Given the description of an element on the screen output the (x, y) to click on. 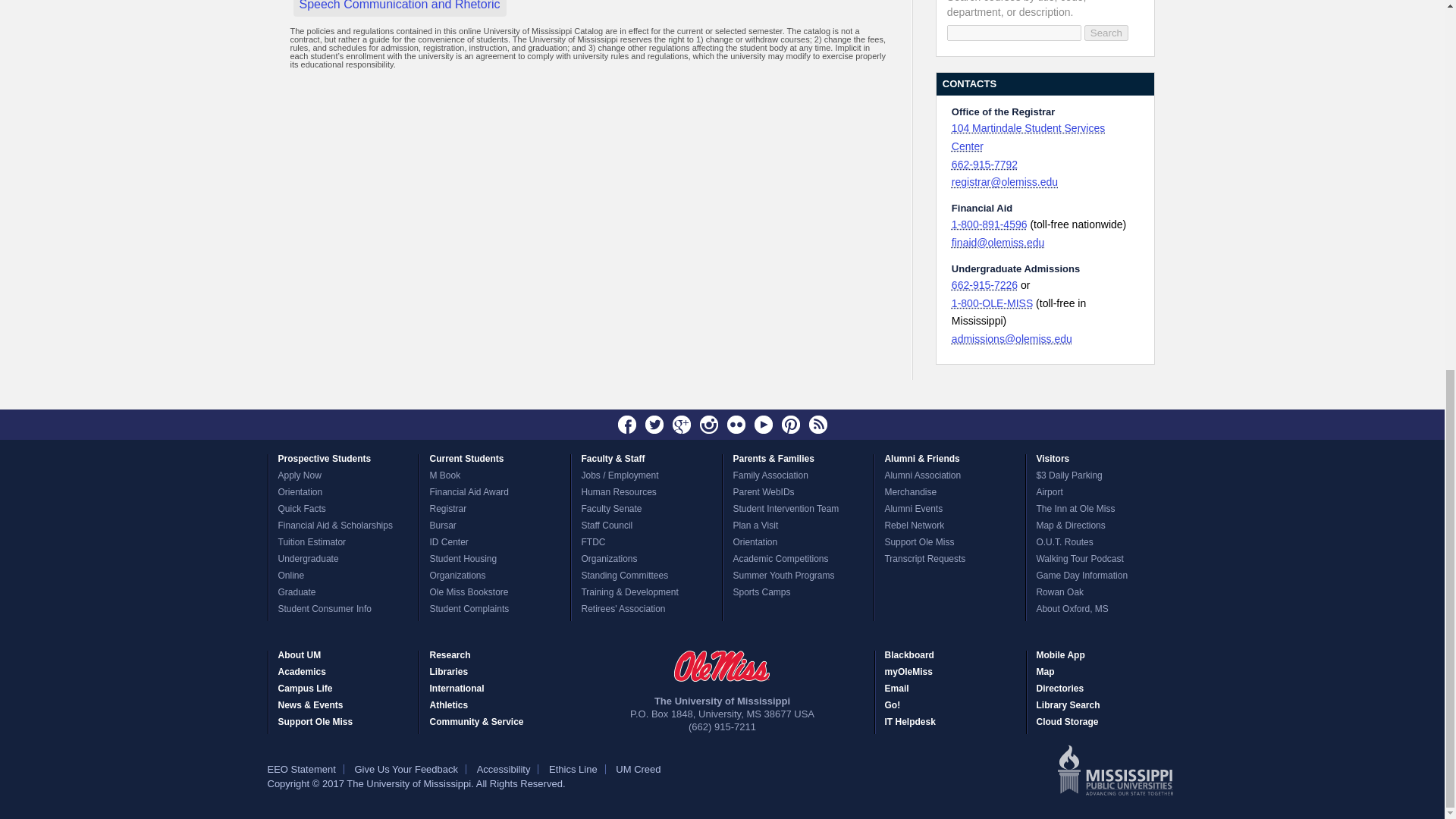
Pinterest (790, 424)
Search (1106, 32)
News Feed (818, 424)
Facebook (627, 424)
Flickr (735, 424)
Youtube (763, 424)
Twitter (654, 424)
Instagram (708, 424)
